Given the description of an element on the screen output the (x, y) to click on. 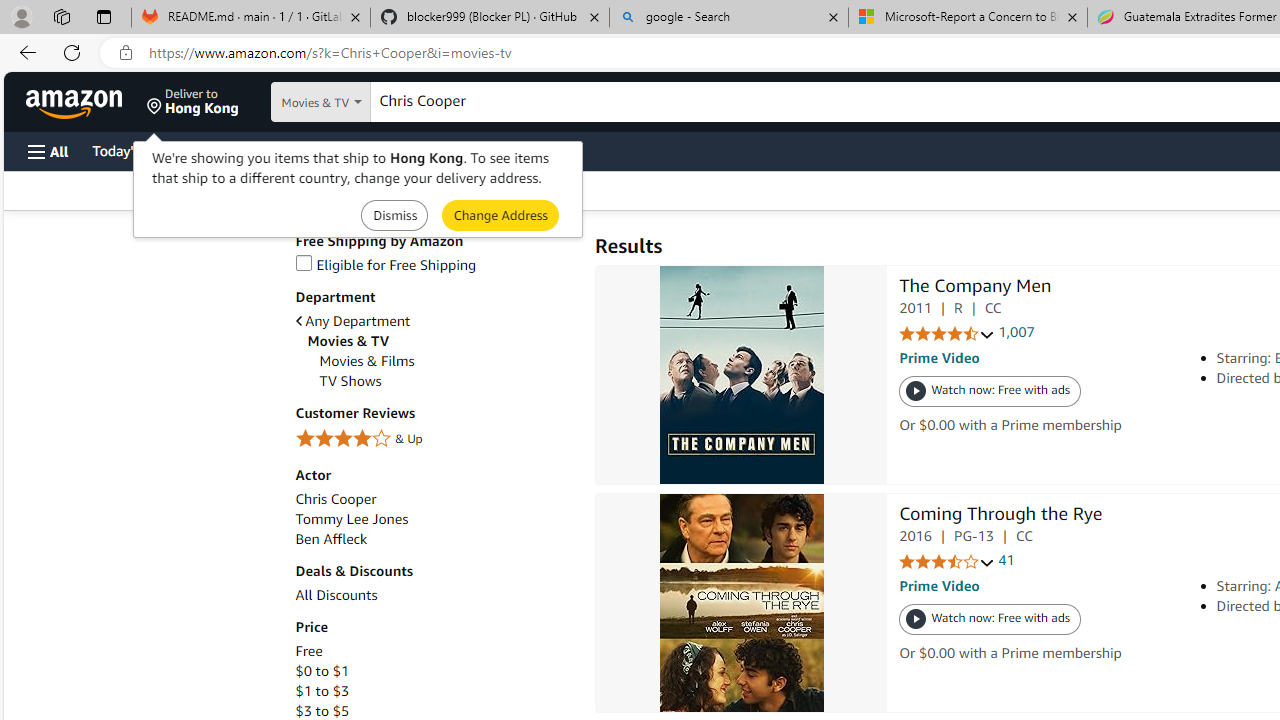
All Discounts (434, 595)
4 Stars & Up& Up (434, 440)
$1 to $3 (321, 691)
Coming Through the Rye (741, 602)
Movies & TV (440, 340)
Today's Deals (134, 150)
41 (1006, 560)
Ben Affleck (434, 539)
Deliver to Hong Kong (193, 101)
$0 to $1 (434, 671)
Any Department (352, 321)
